Given the description of an element on the screen output the (x, y) to click on. 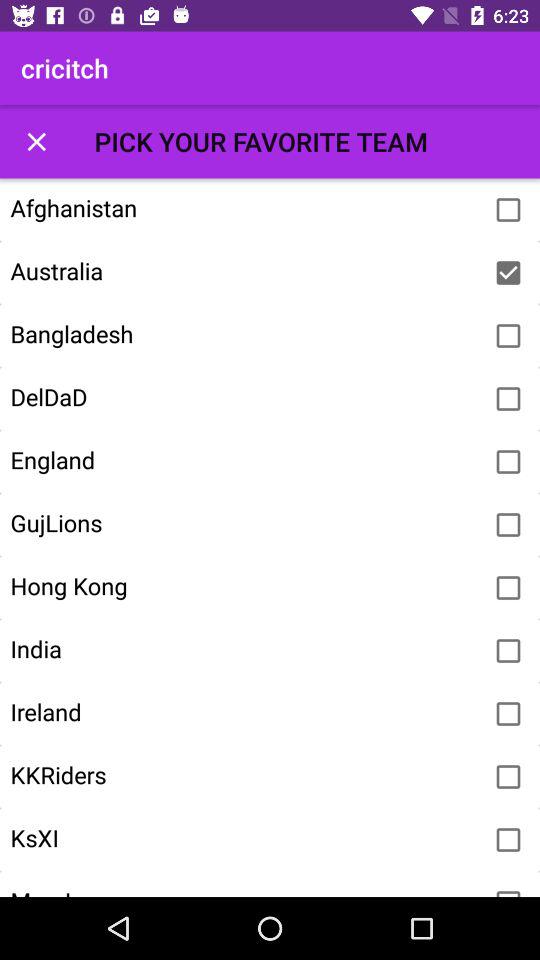
select australia as your team (508, 273)
